Given the description of an element on the screen output the (x, y) to click on. 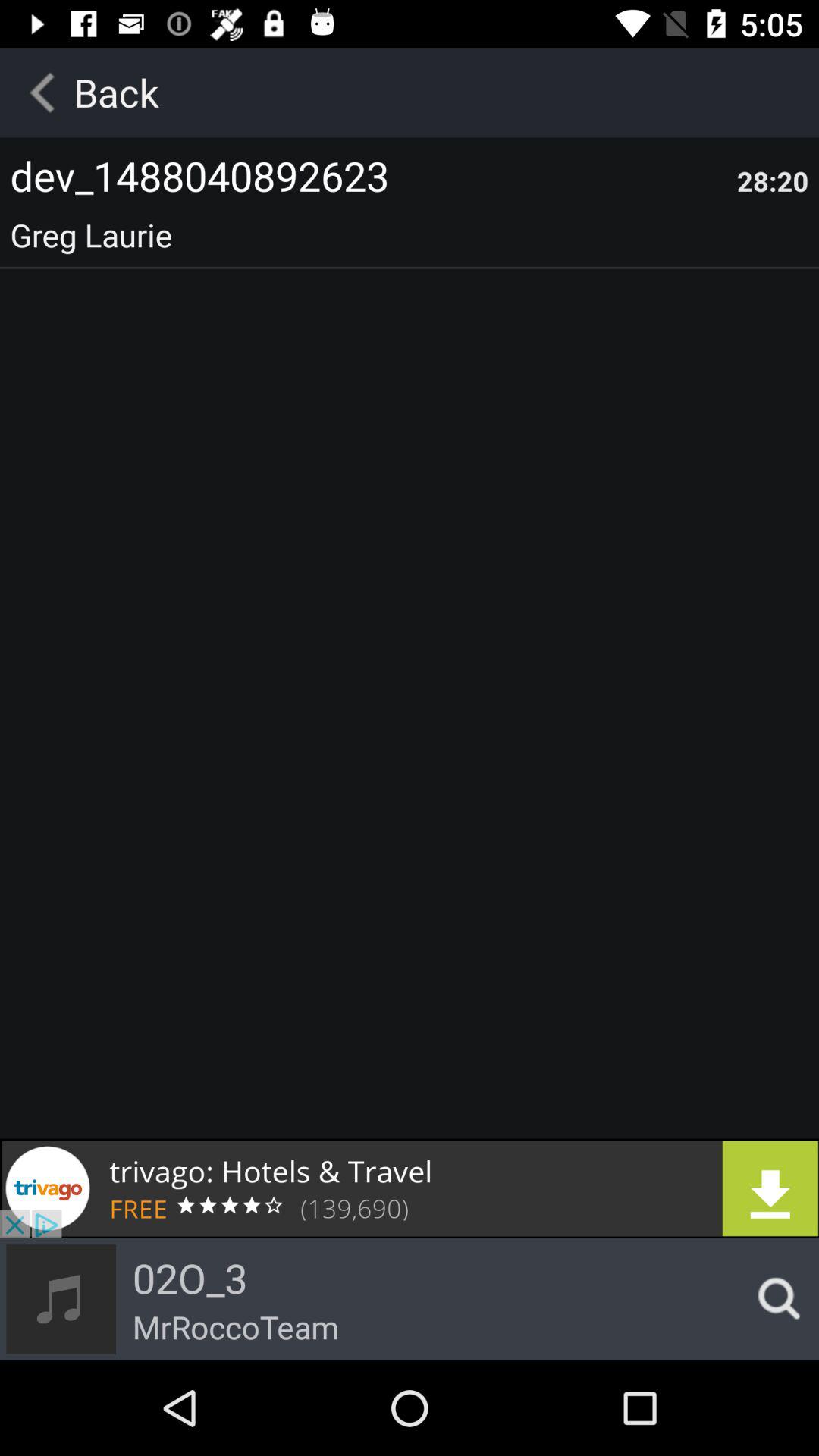
go to downarrow (409, 1188)
